Given the description of an element on the screen output the (x, y) to click on. 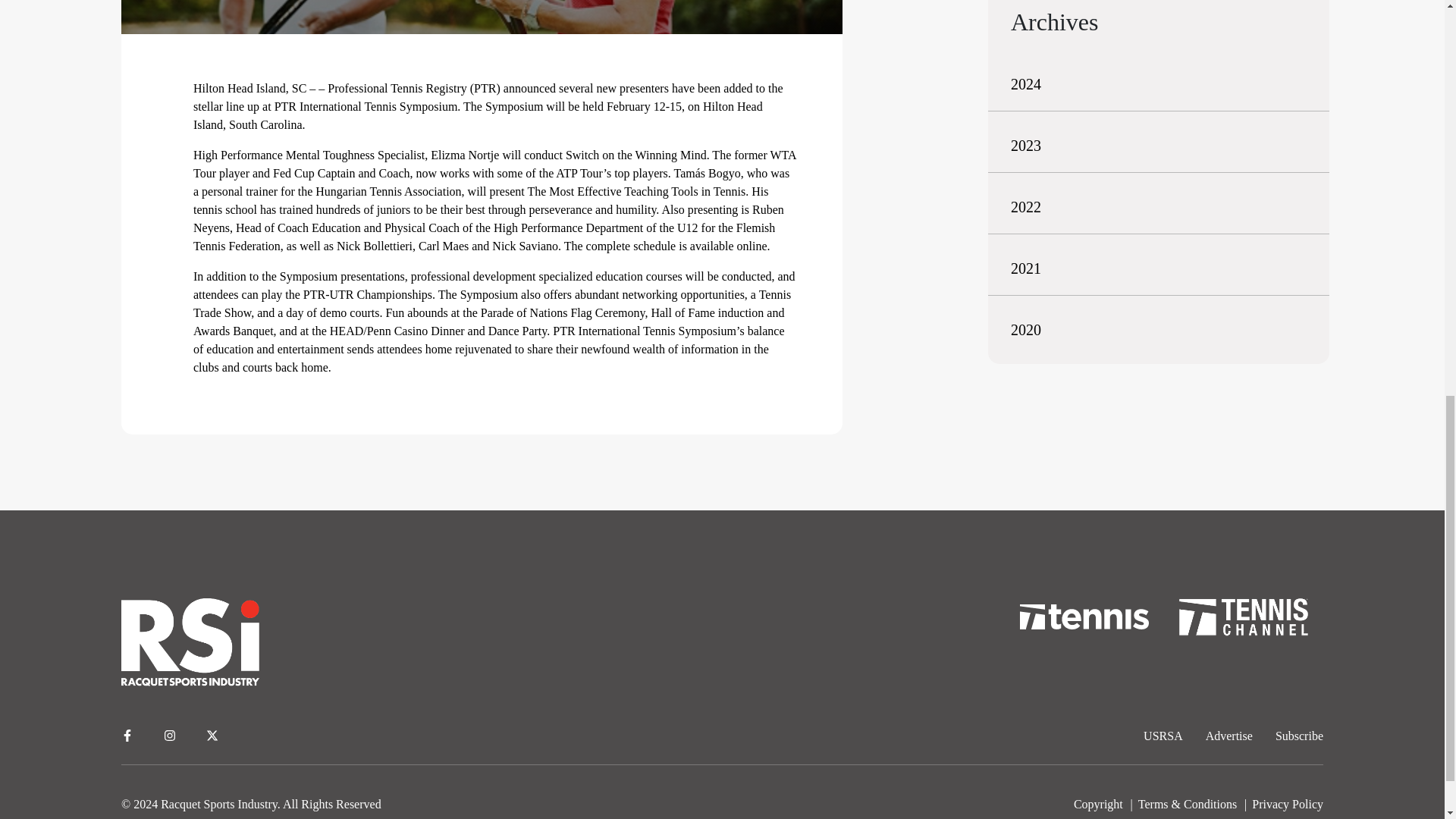
2021 (1025, 268)
Subscribe (1299, 736)
Advertise (1228, 736)
2020 (1025, 329)
Copyright (1098, 804)
2022 (1025, 207)
2023 (1025, 145)
2024 (1025, 84)
USRSA (1162, 736)
Privacy Policy (1287, 804)
